Given the description of an element on the screen output the (x, y) to click on. 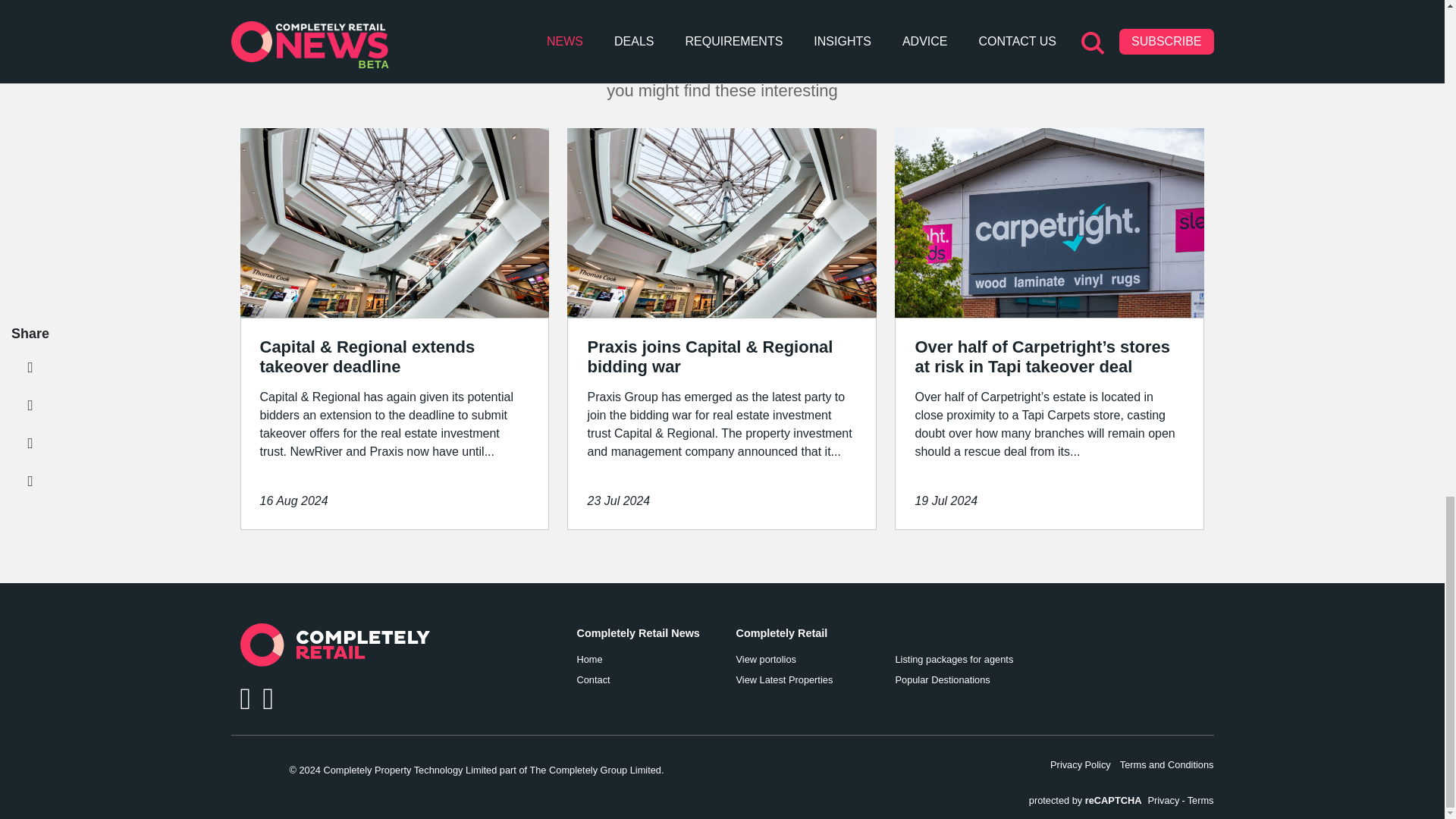
Popular Destionations (965, 679)
Listing packages for agents (965, 658)
Contact (646, 679)
View portolios (805, 658)
View Latest Properties (805, 679)
Terms and Conditions (1166, 764)
Privacy Policy (1079, 764)
Terms (1201, 800)
Home (646, 658)
Privacy (1163, 800)
